Given the description of an element on the screen output the (x, y) to click on. 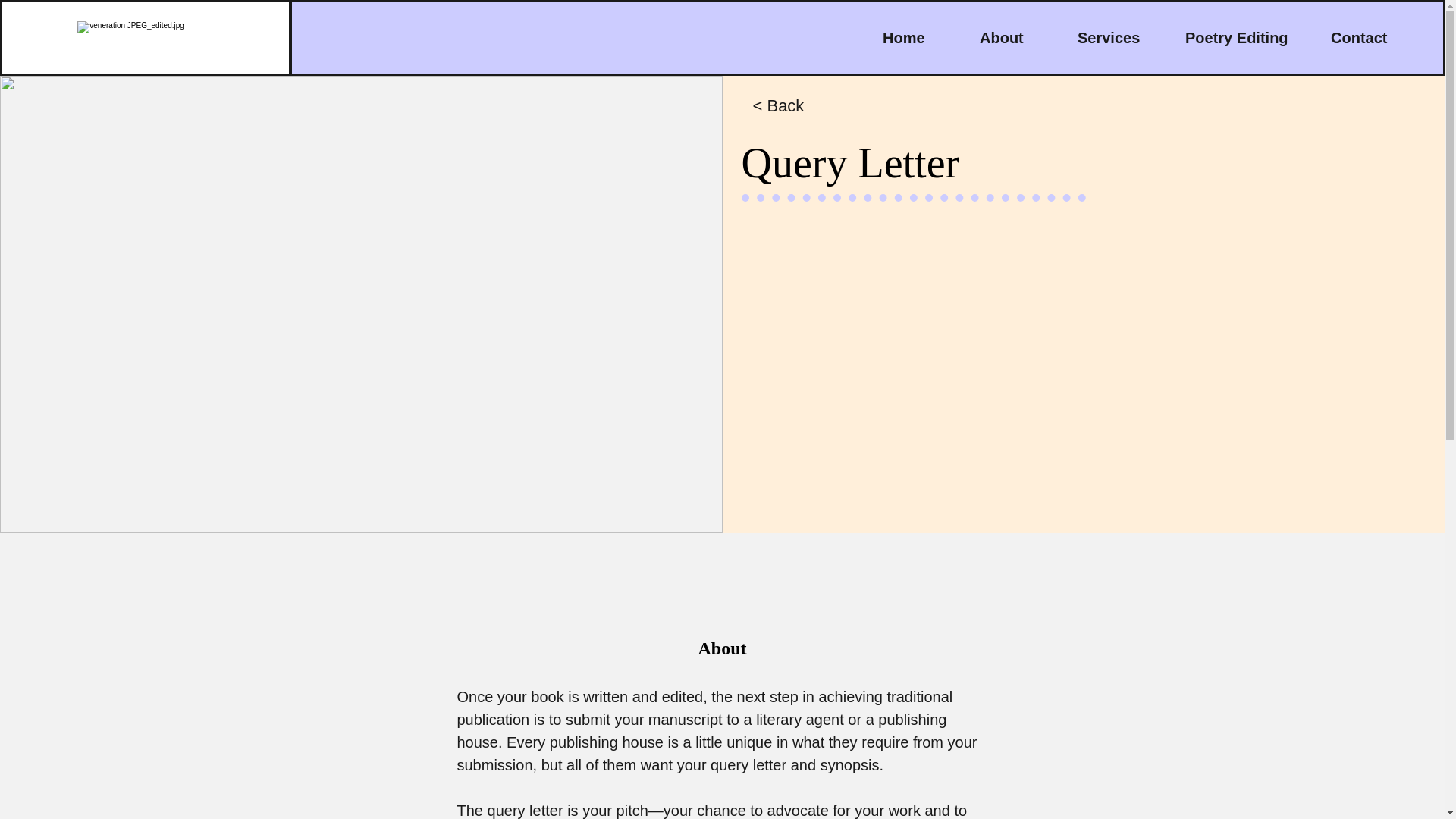
About (1016, 37)
Services (1119, 37)
Poetry Editing (1246, 37)
Contact (1374, 37)
Home (919, 37)
